Given the description of an element on the screen output the (x, y) to click on. 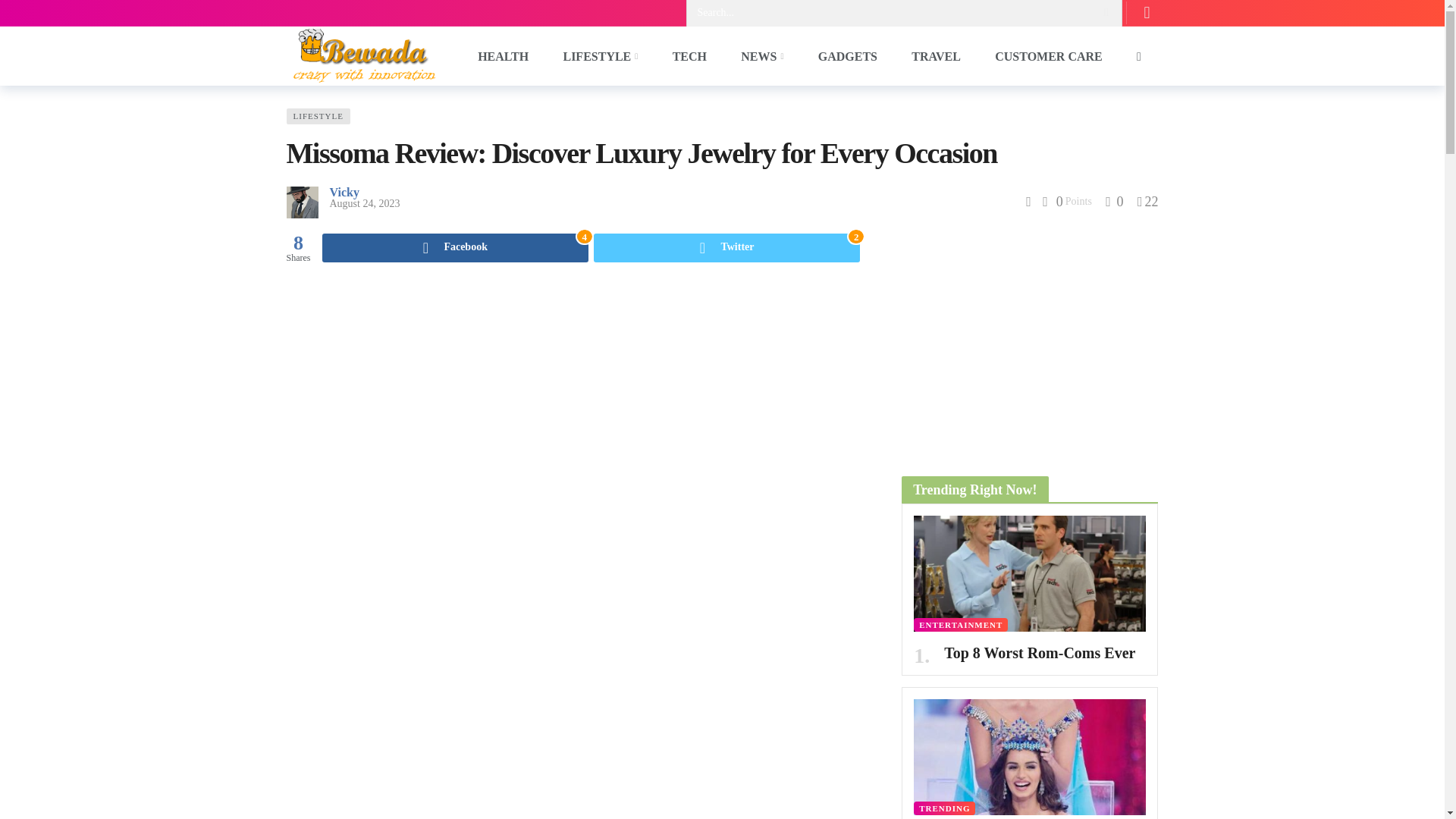
0 (1113, 201)
Vicky (343, 192)
TECH (689, 55)
August 24, 2023 (727, 247)
GADGETS (363, 203)
TRAVEL (847, 55)
NEWS (936, 55)
CUSTOMER CARE (761, 55)
HEALTH (1048, 55)
LIFESTYLE (503, 55)
LIFESTYLE (318, 116)
